Given the description of an element on the screen output the (x, y) to click on. 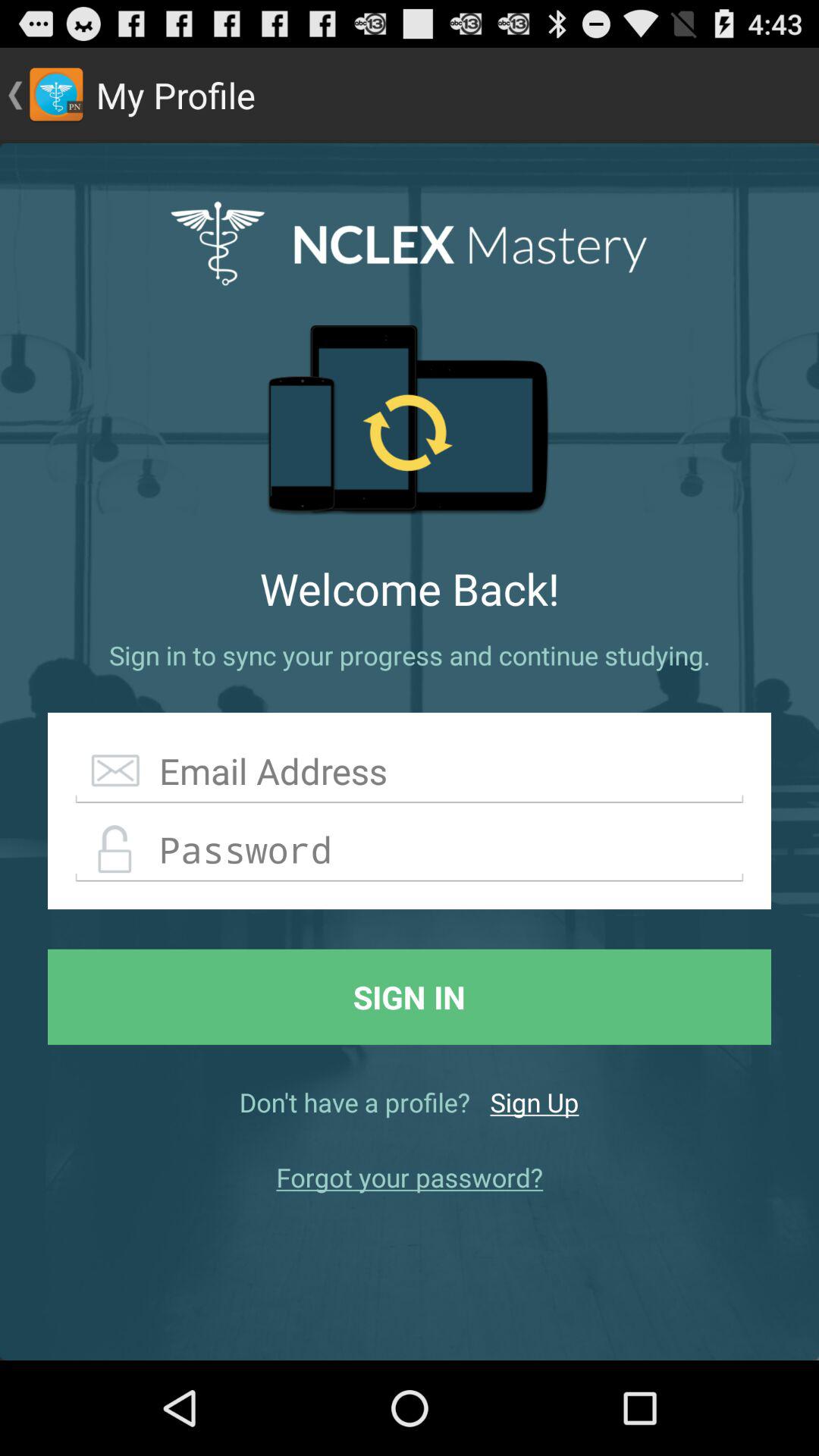
tap the app below the sign in to item (409, 771)
